Given the description of an element on the screen output the (x, y) to click on. 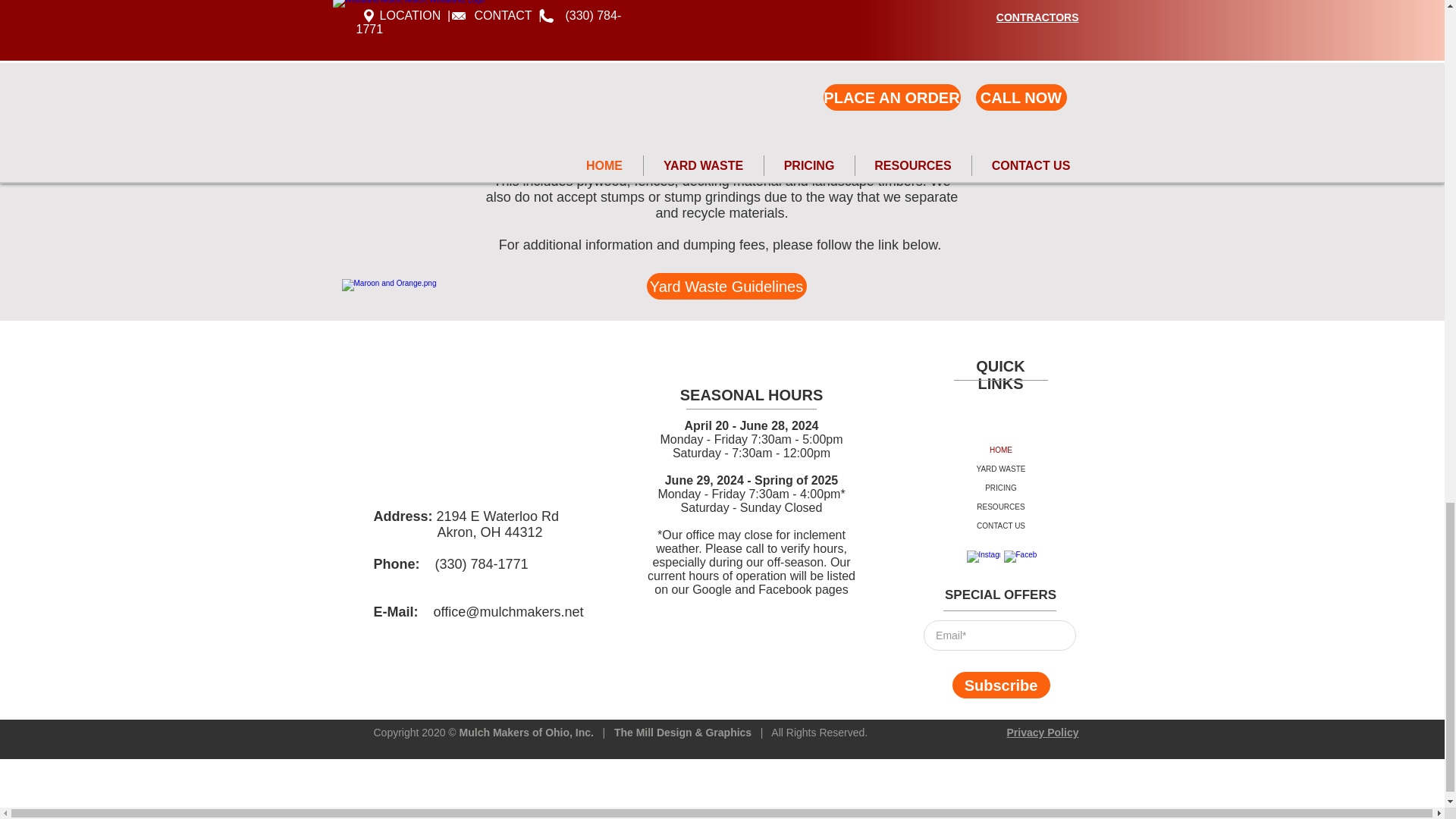
Subscribe (1000, 684)
Privacy Policy (1042, 732)
RESOURCES (1000, 506)
HOME (1000, 449)
, OH 44312 (508, 531)
CONTACT US (1000, 525)
Yard Waste Guidelines (726, 285)
PRICING (1000, 487)
YARD WASTE (1000, 468)
